Given the description of an element on the screen output the (x, y) to click on. 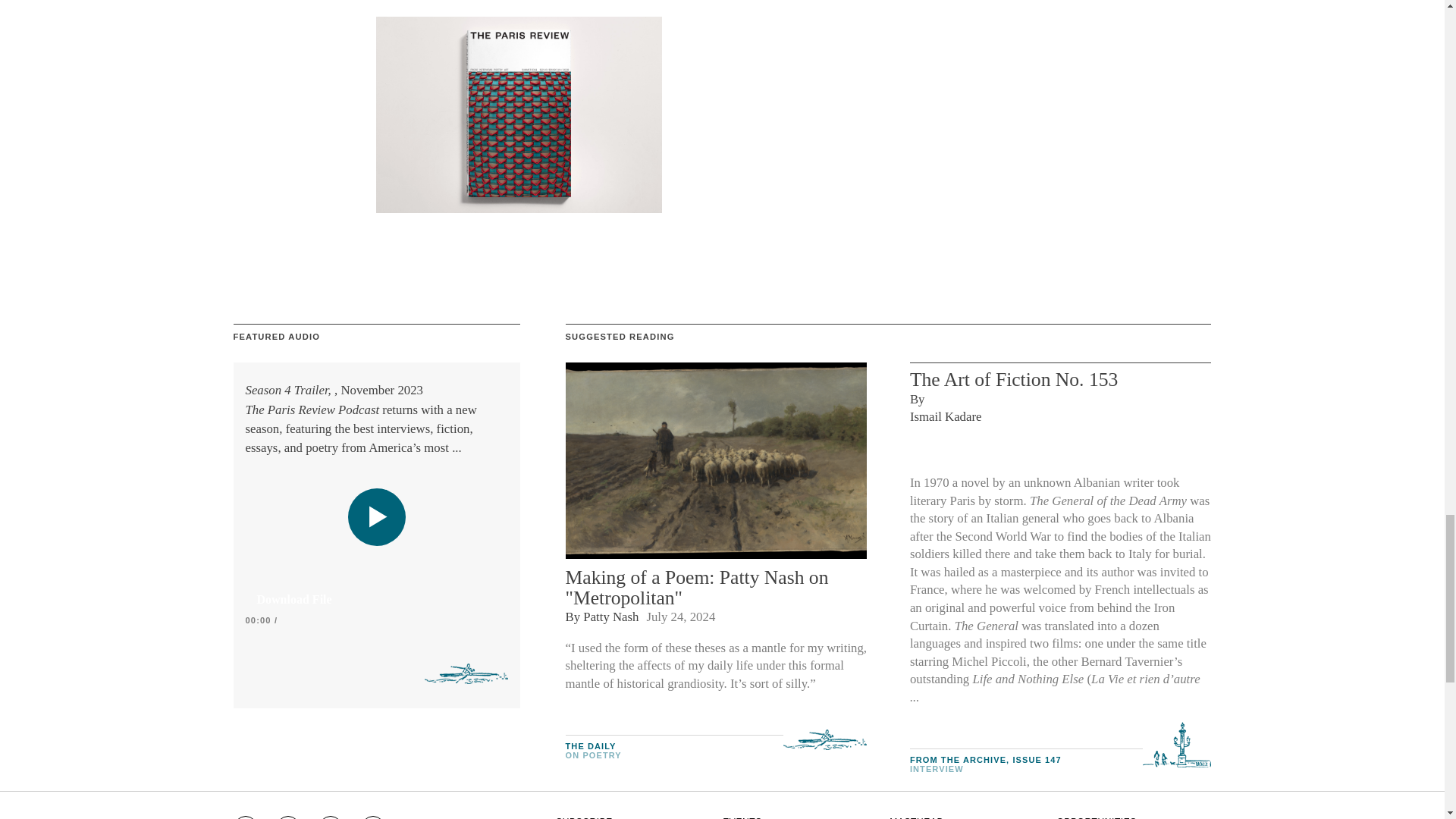
Go to RSS feed (373, 817)
Go to Twitter feed (330, 817)
Go to Facebook page (287, 817)
Go to Instagram feed (244, 817)
